Given the description of an element on the screen output the (x, y) to click on. 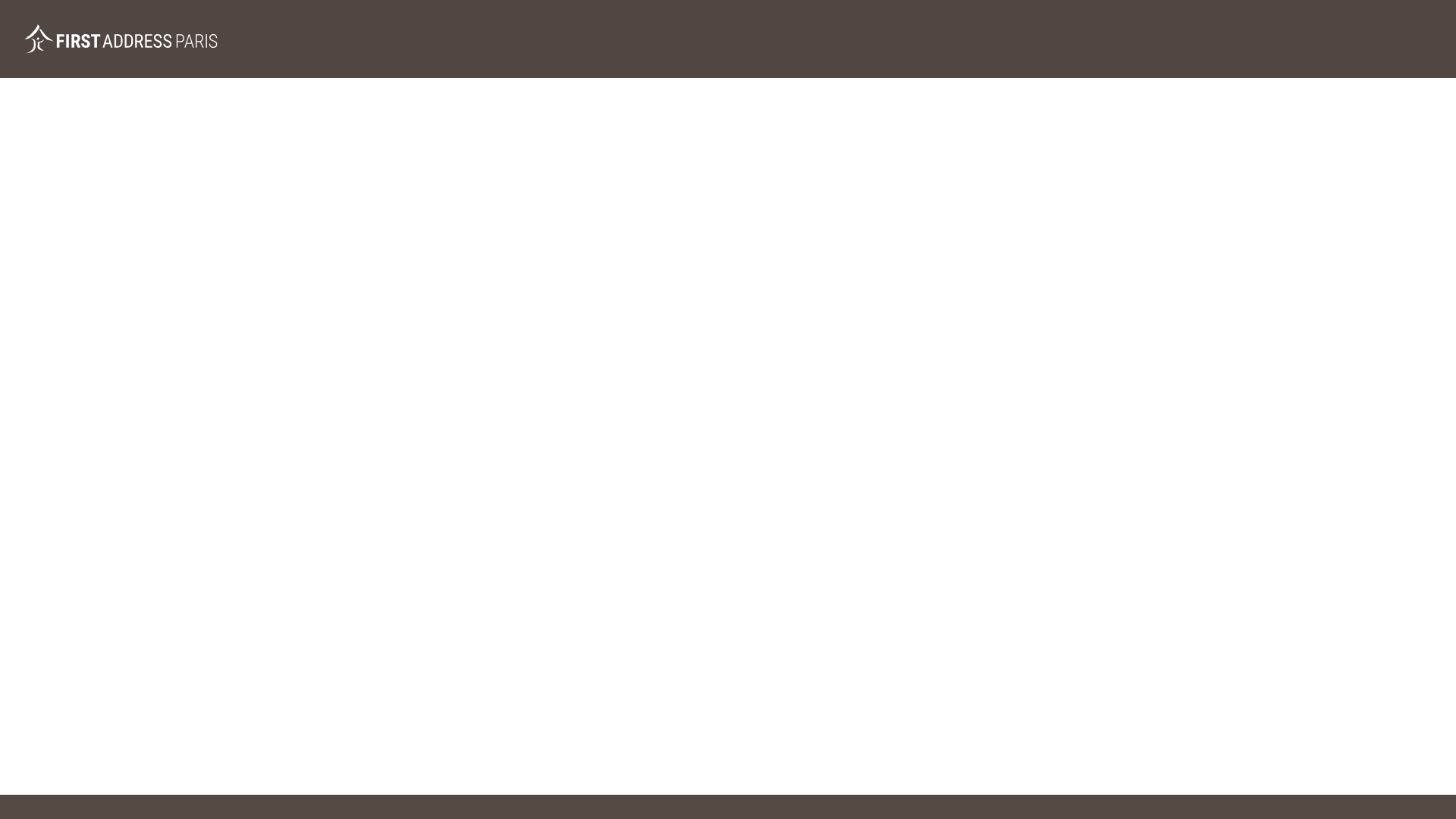
First Address Paris Element type: hover (120, 38)
